Given the description of an element on the screen output the (x, y) to click on. 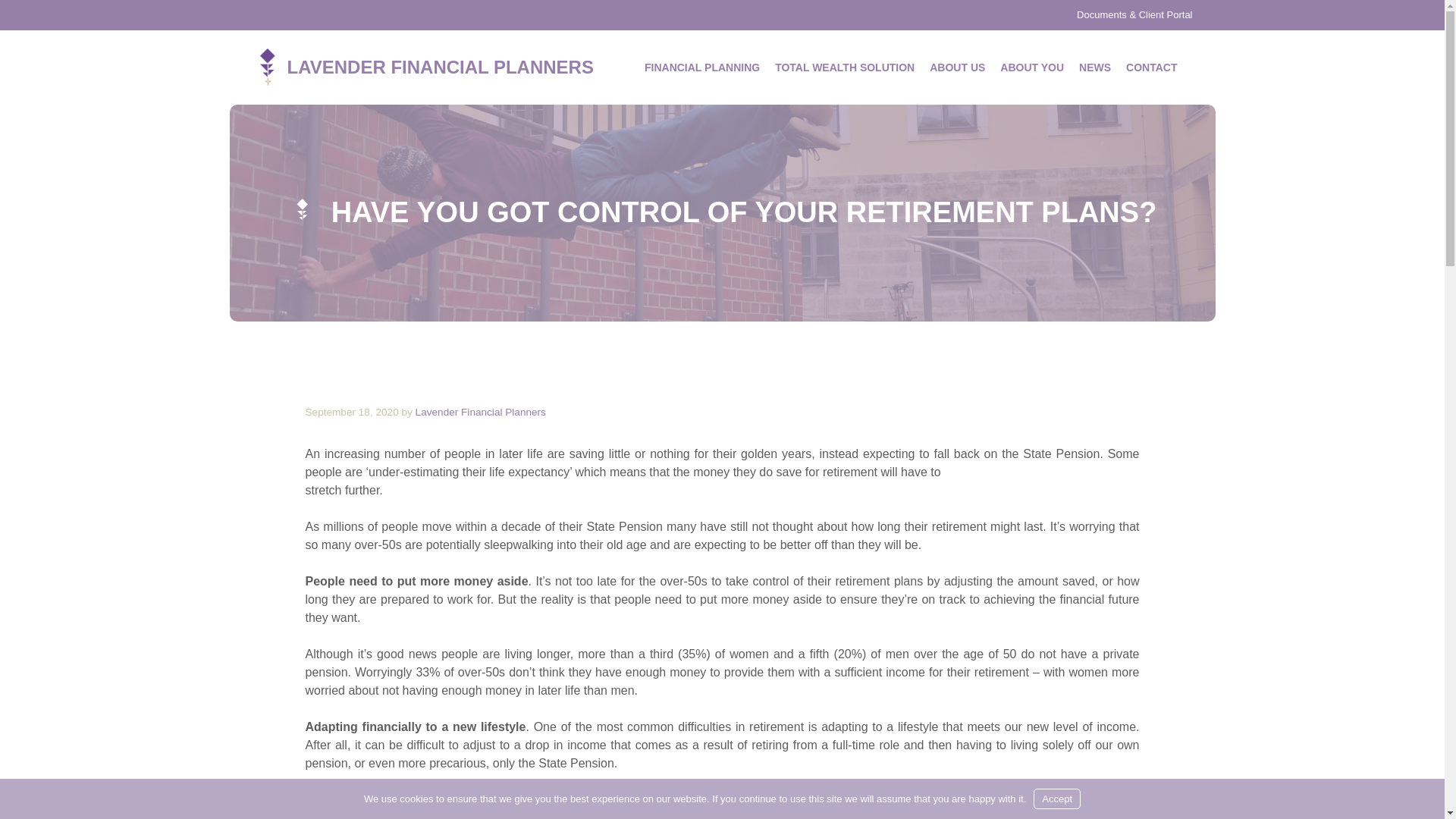
FINANCIAL PLANNING (702, 67)
ABOUT US (956, 67)
Lavender Financial Planners (480, 411)
Lavender Financial Planners (267, 65)
TOTAL WEALTH SOLUTION (844, 67)
CONTACT (1151, 67)
NEWS (1094, 67)
View all posts by Lavender Financial Planners (480, 411)
LAVENDER FINANCIAL PLANNERS (439, 66)
ABOUT YOU (1031, 67)
